Given the description of an element on the screen output the (x, y) to click on. 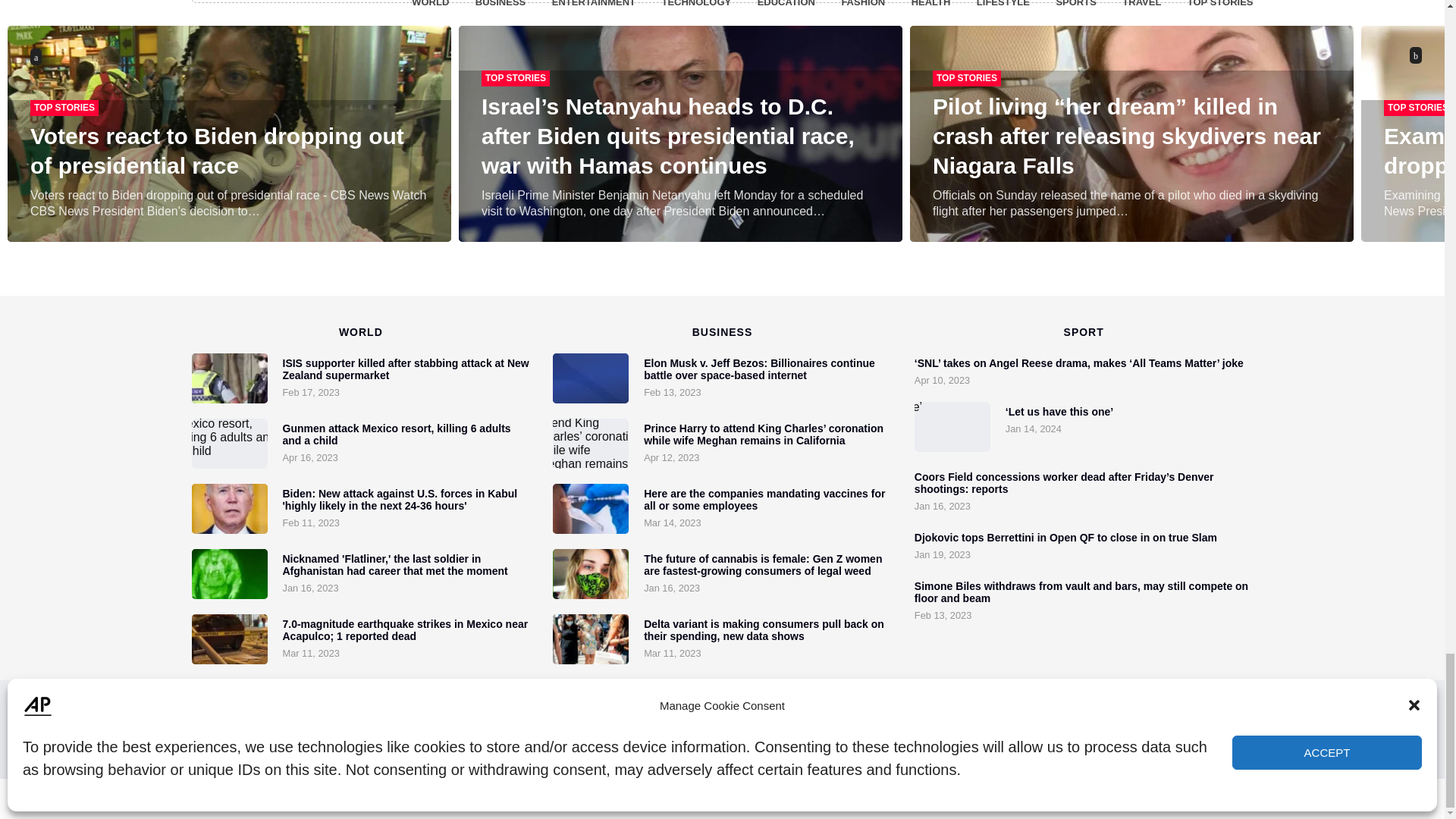
Subscribe Now (833, 730)
